Given the description of an element on the screen output the (x, y) to click on. 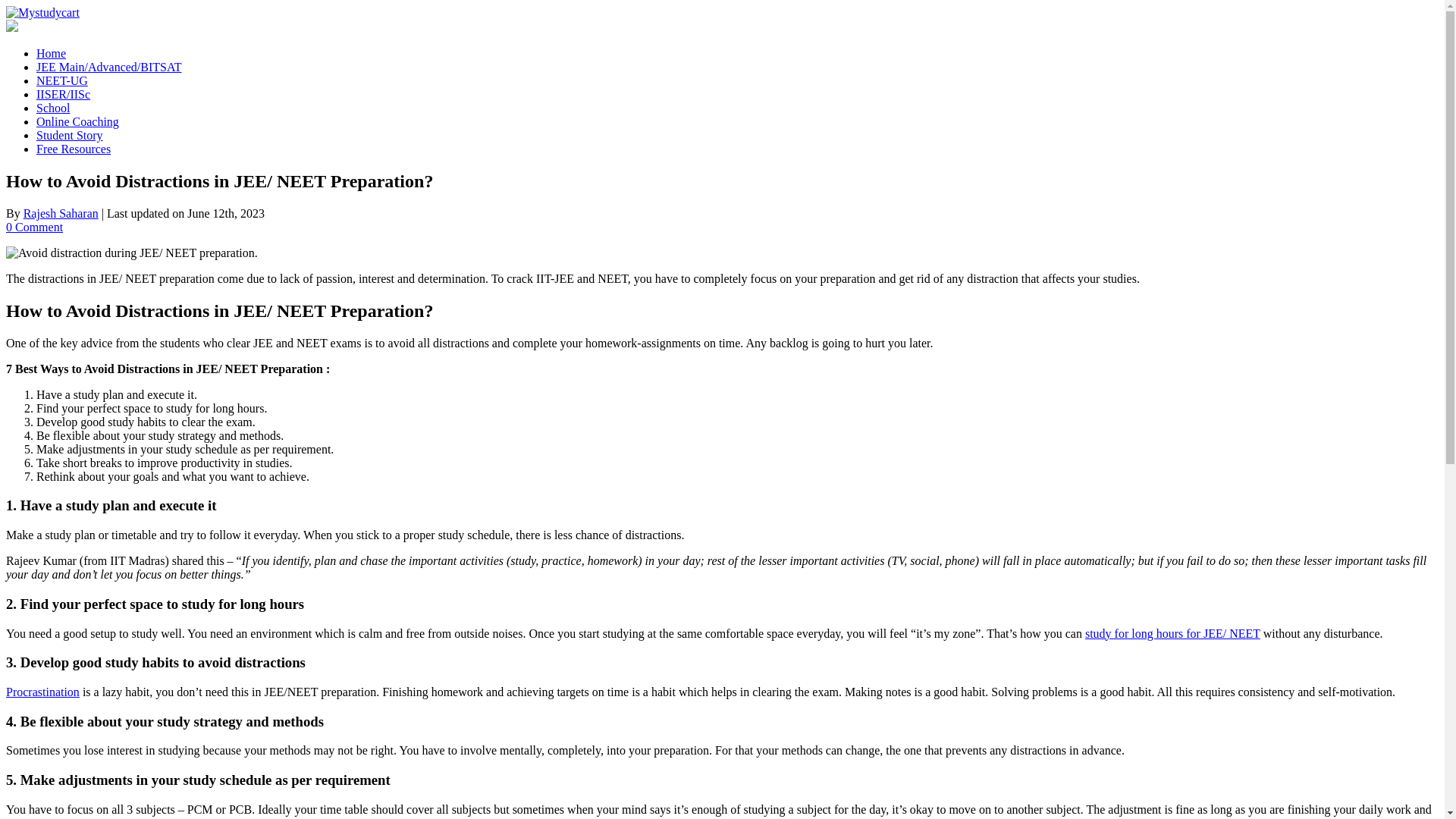
School (52, 107)
Student Story (69, 134)
Free Resources (73, 148)
Procrastination (42, 691)
Blog Home (50, 52)
Mystudycart (42, 11)
NEET-UG (61, 80)
Rajesh Saharan (61, 213)
Posts by Rajesh Saharan (61, 213)
0 Comment (33, 226)
